Given the description of an element on the screen output the (x, y) to click on. 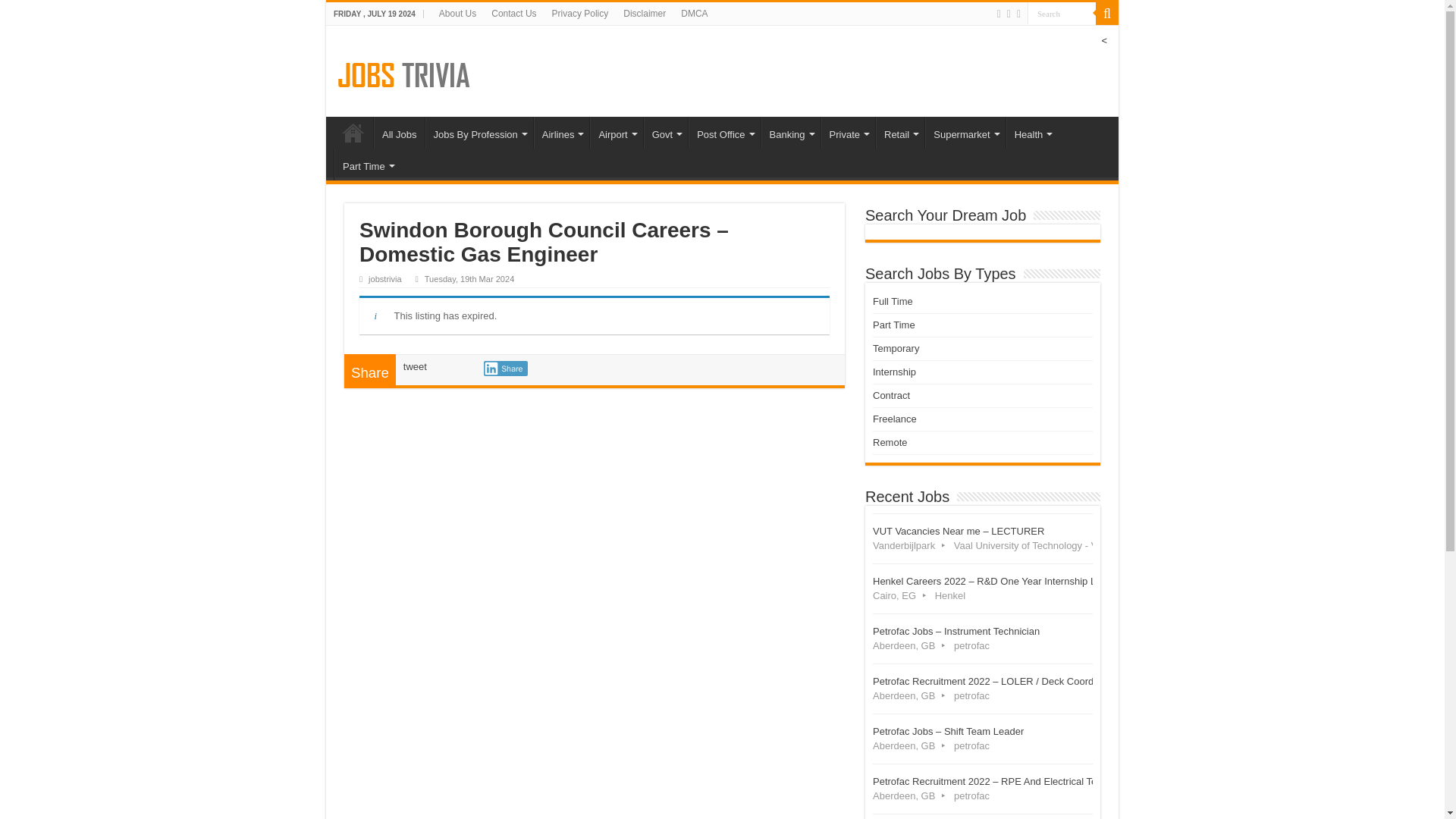
Twitter (1008, 13)
Search (1061, 13)
Facebook (999, 13)
Search (1061, 13)
LinkedIn (1018, 13)
Search (1061, 13)
